Given the description of an element on the screen output the (x, y) to click on. 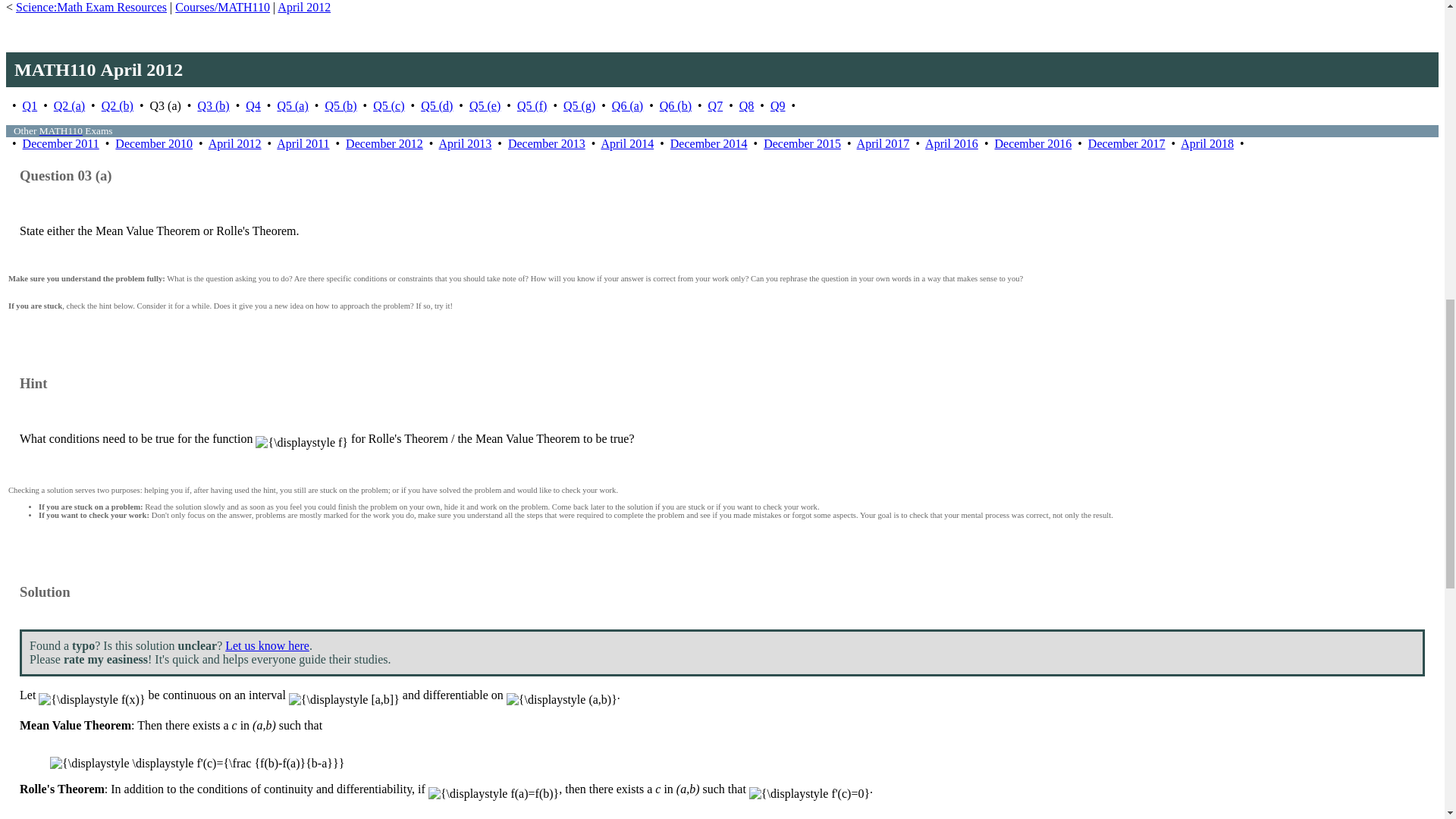
Science:Math Exam Resources (91, 6)
April 2012 (304, 6)
Q1 (30, 105)
